Given the description of an element on the screen output the (x, y) to click on. 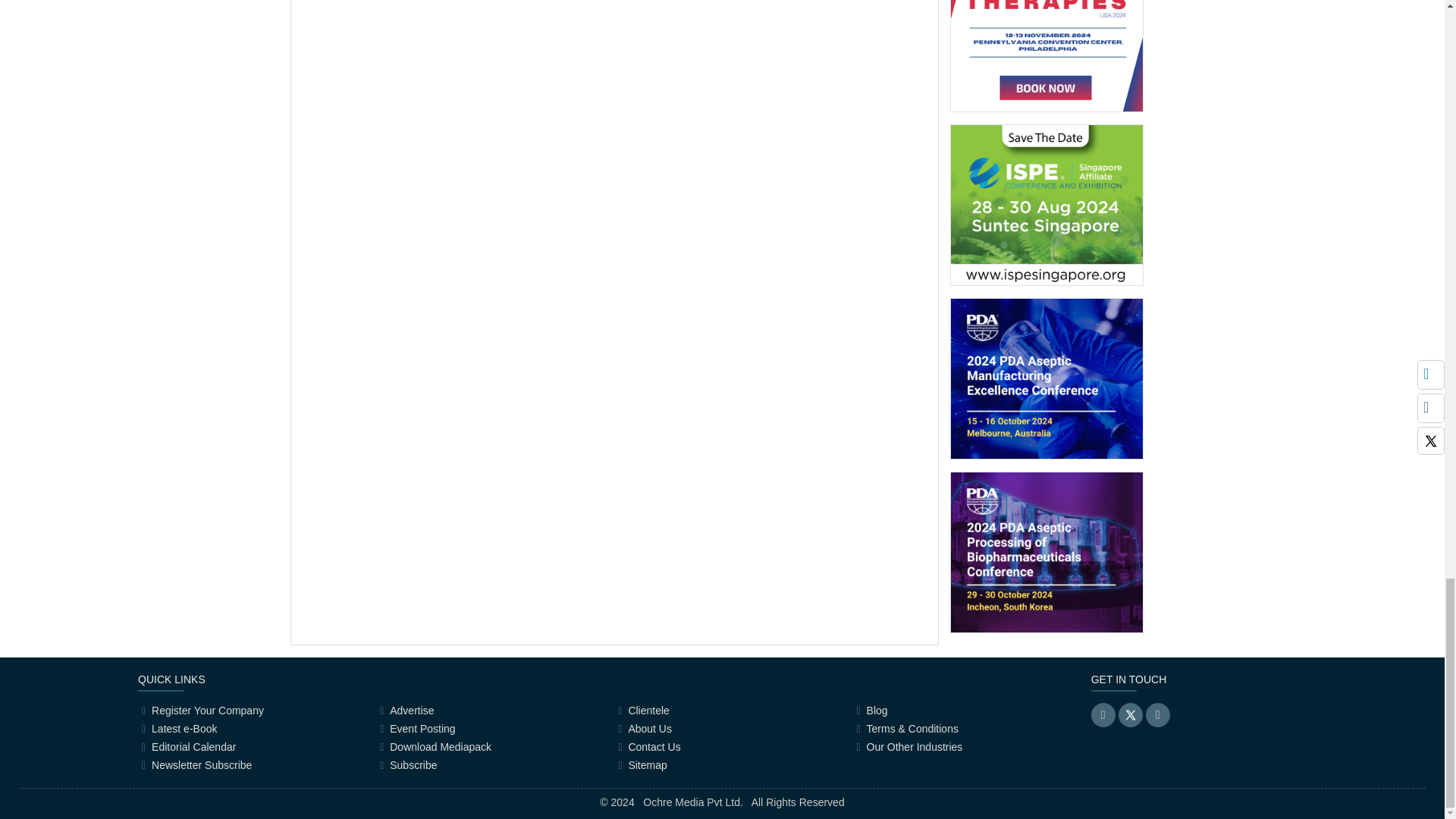
Advanced Therapies USA 2024 (1045, 36)
